Given the description of an element on the screen output the (x, y) to click on. 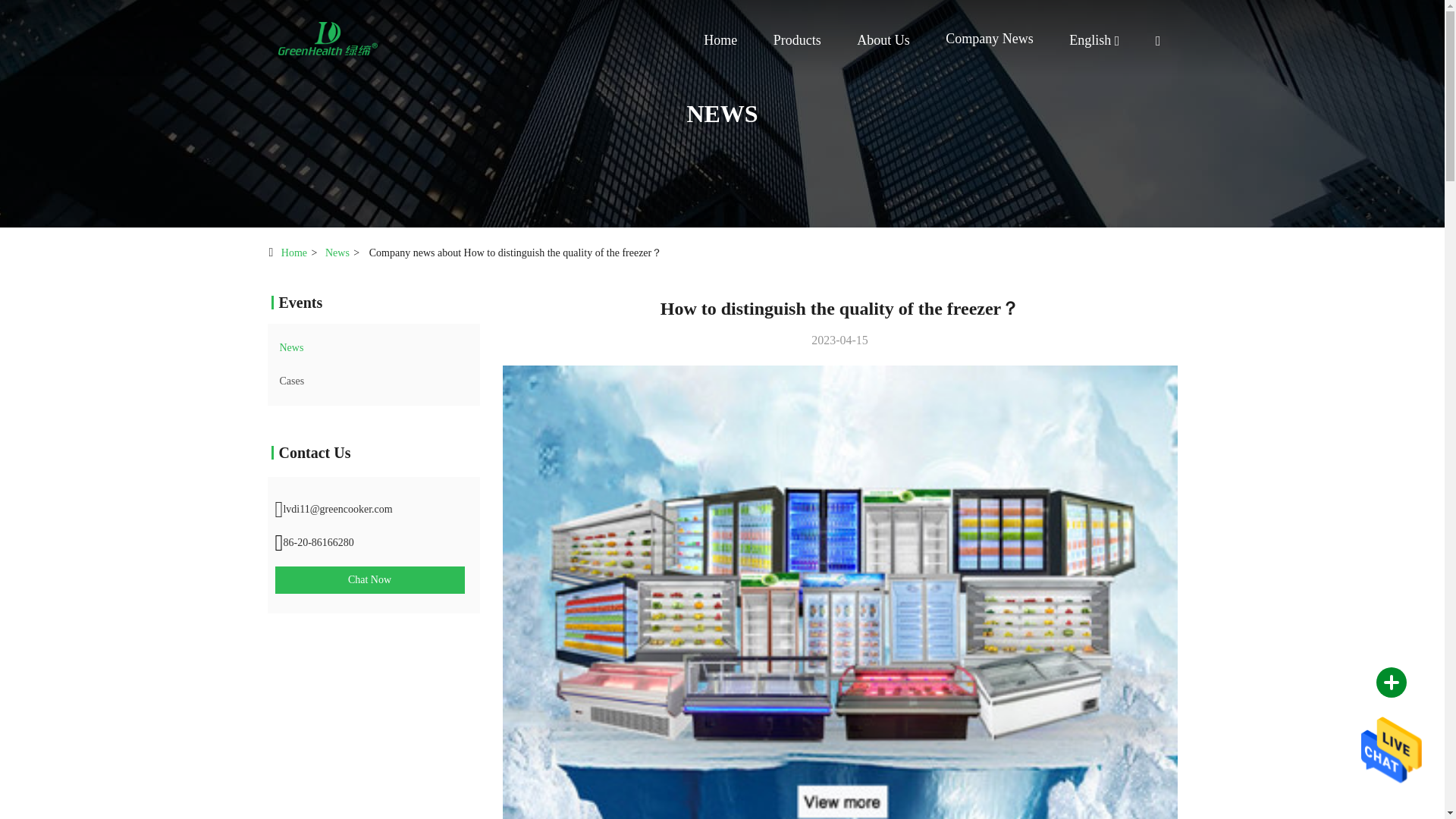
Home (327, 37)
Company News (988, 38)
Products (797, 40)
Products (797, 40)
About Us (883, 40)
